Given the description of an element on the screen output the (x, y) to click on. 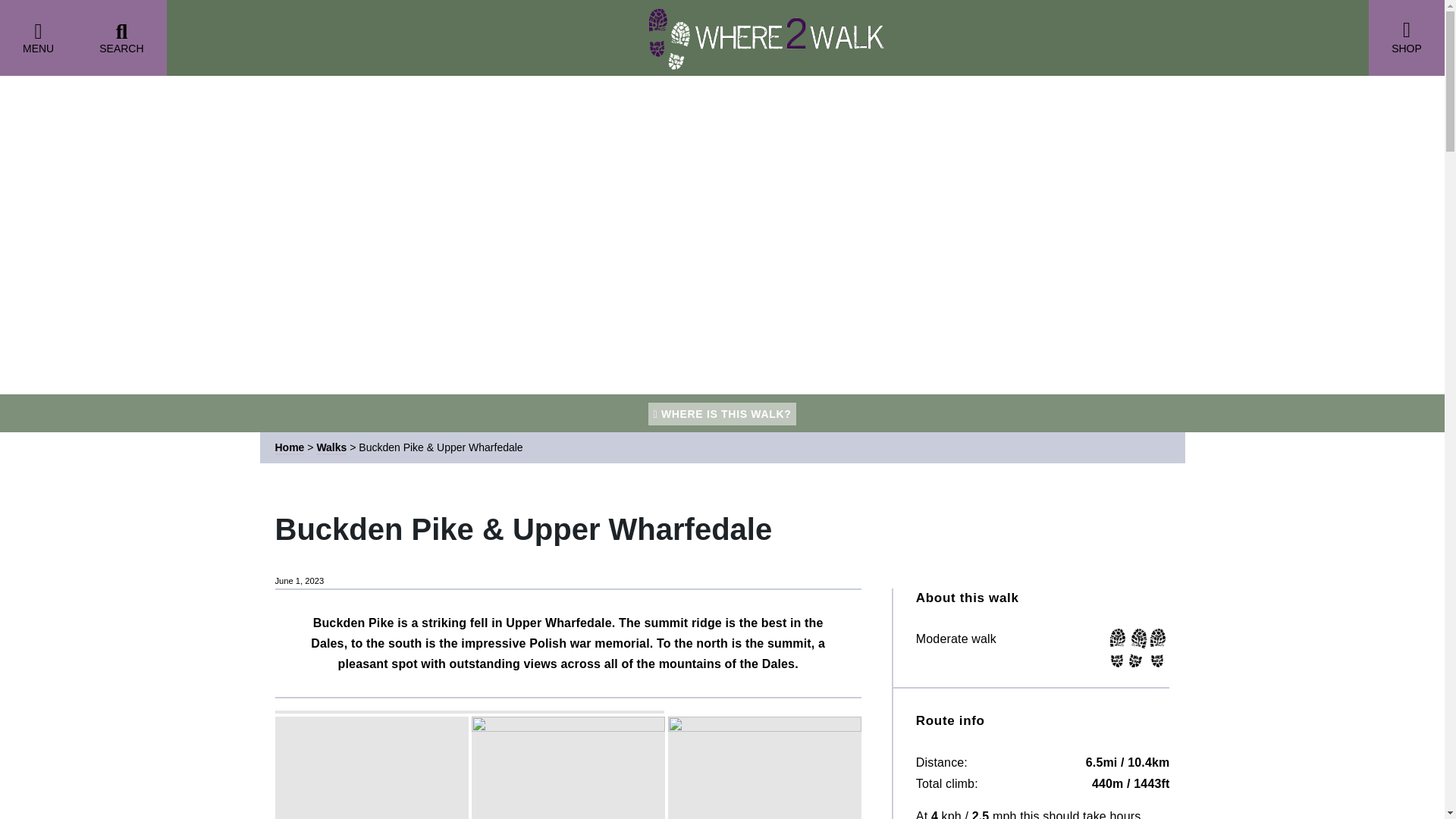
Home (289, 448)
SEARCH (121, 38)
MENU (38, 38)
Walks (330, 448)
